Given the description of an element on the screen output the (x, y) to click on. 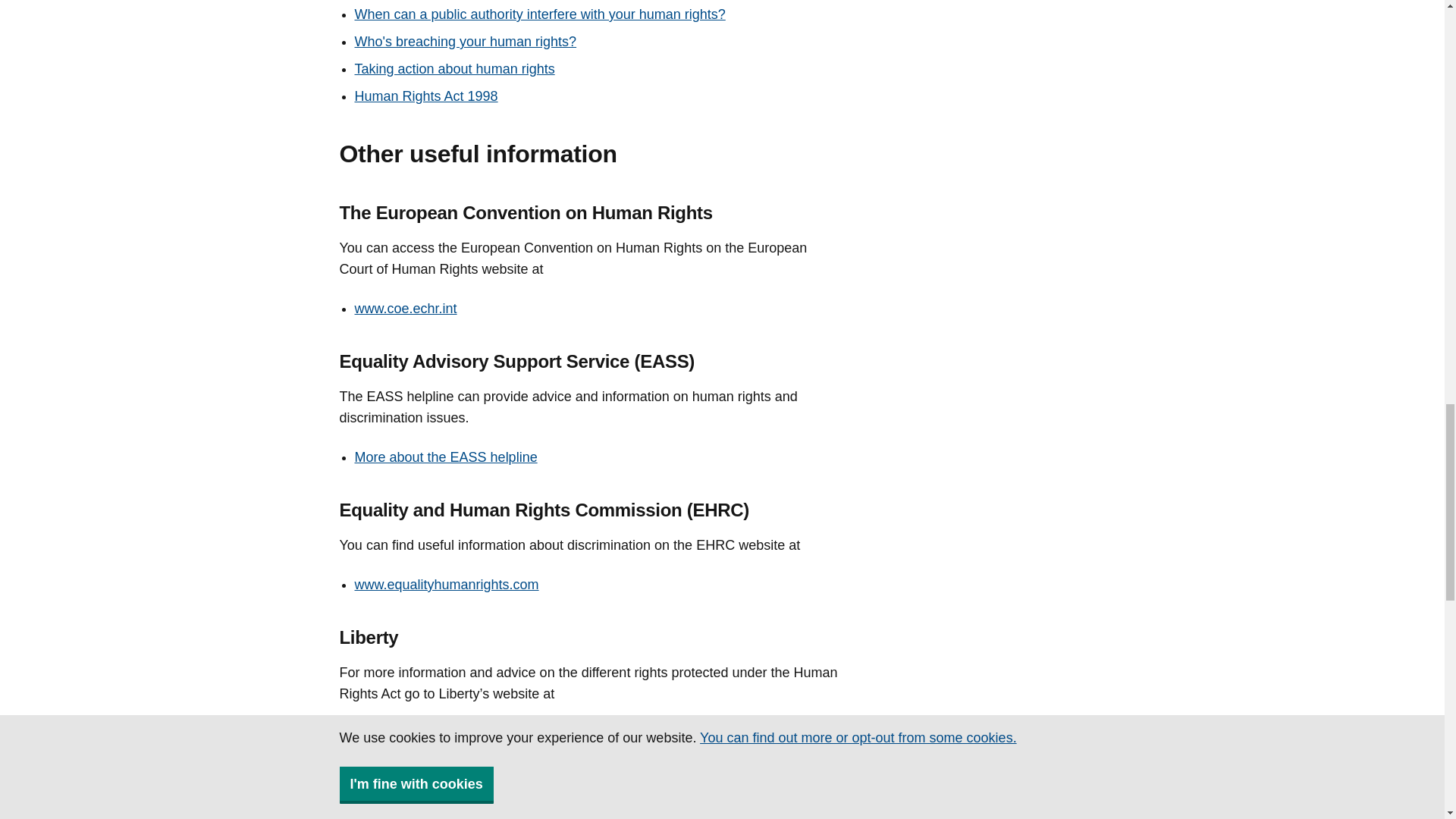
More about the EASS helpline (446, 457)
Human Rights Act 1998 (426, 96)
www.coe.echr.int (406, 308)
Taking action about human rights (454, 68)
Who's breaching your human rights? (465, 41)
